Given the description of an element on the screen output the (x, y) to click on. 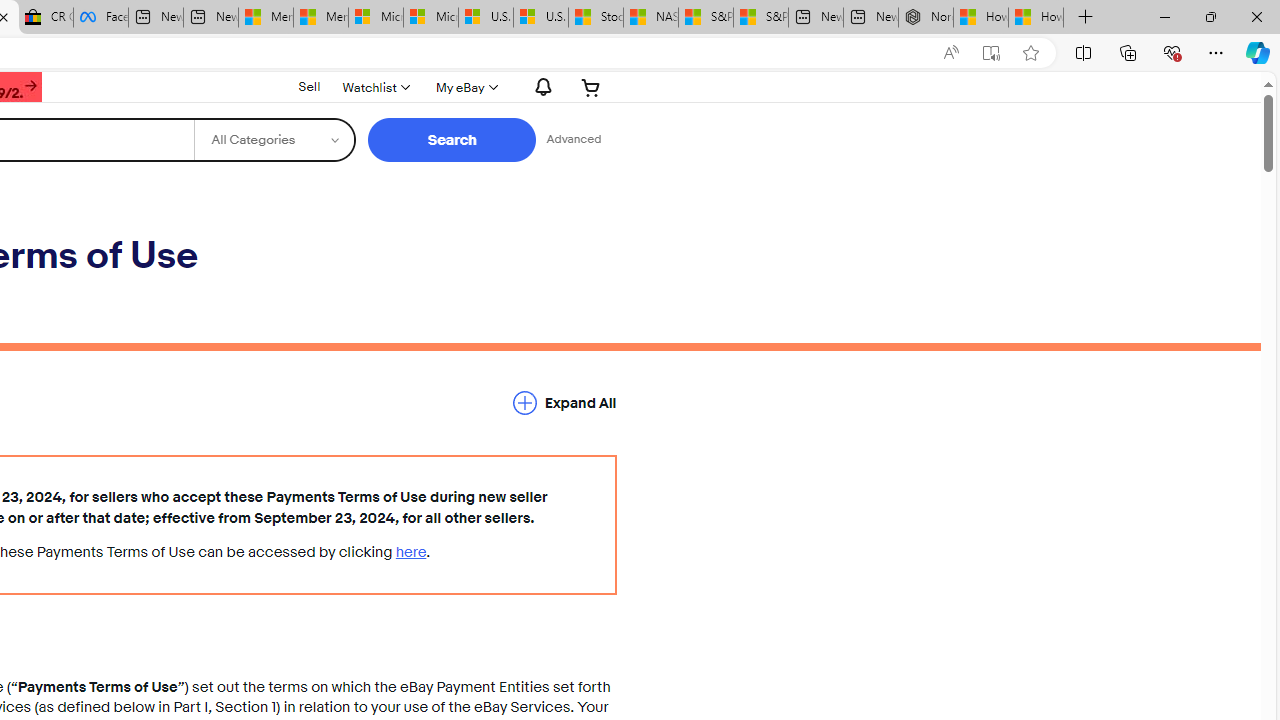
S&P 500, Nasdaq end lower, weighed by Nvidia dip | Watch (760, 17)
Watchlist (374, 87)
How to Use a Monitor With Your Closed Laptop (1035, 17)
Sell (309, 87)
WatchlistExpand Watch List (374, 87)
here (411, 552)
Select a category for search (274, 139)
